Given the description of an element on the screen output the (x, y) to click on. 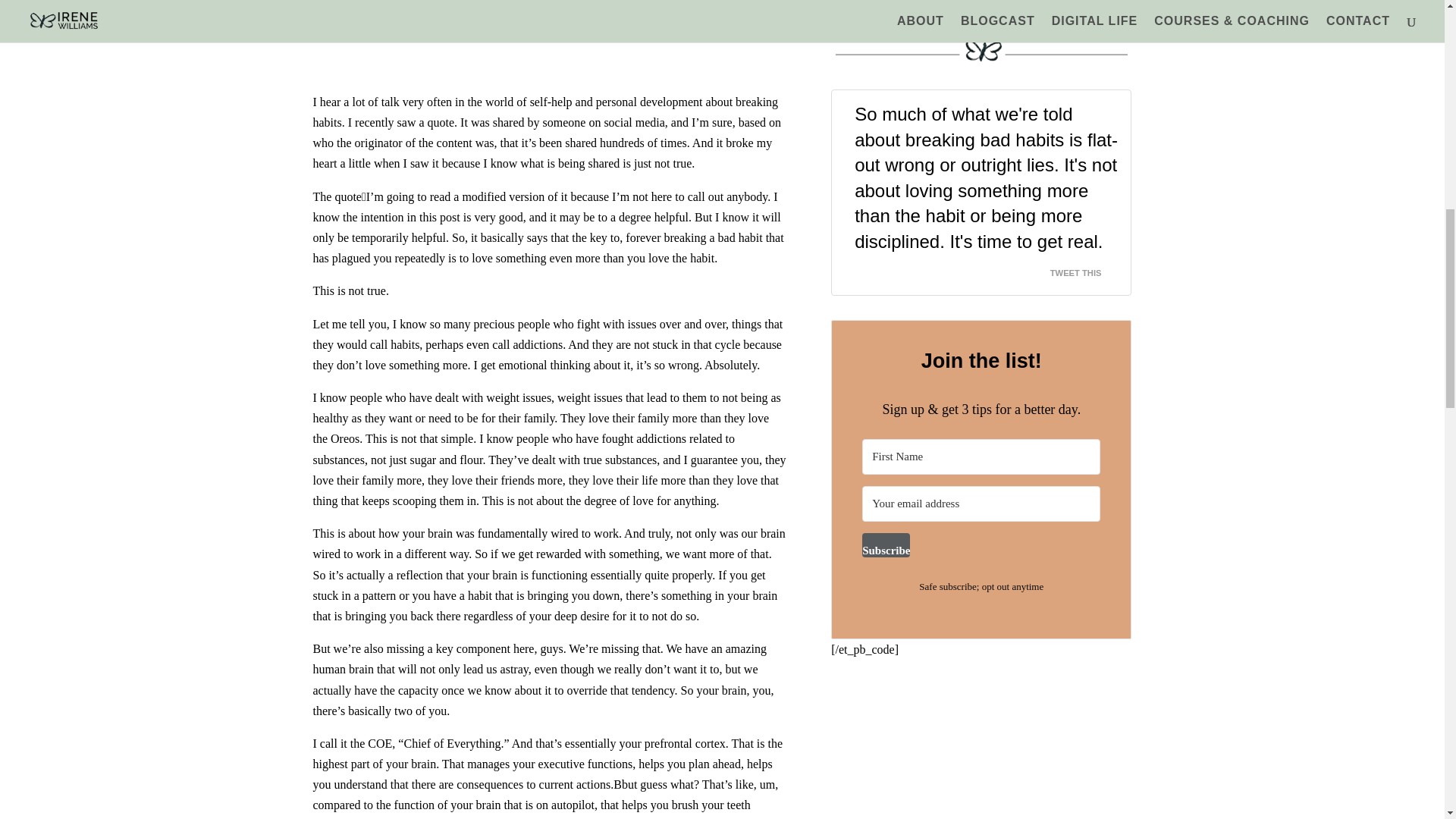
TWEET THIS (1084, 268)
Subscribe (885, 545)
